Given the description of an element on the screen output the (x, y) to click on. 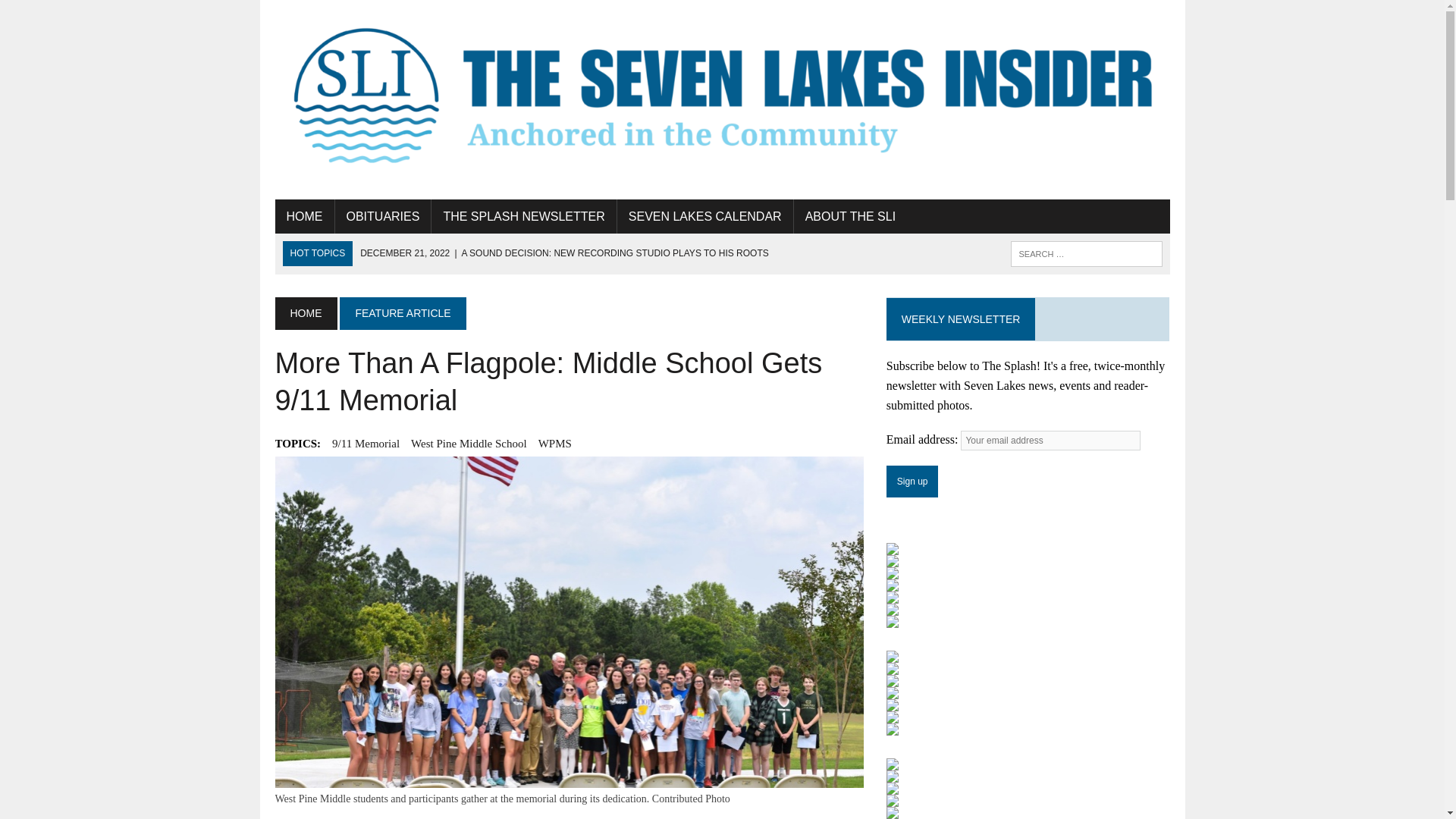
WPMS (555, 443)
ABOUT THE SLI (850, 216)
West Pine Middle School (468, 443)
HOME (305, 313)
OBITUARIES (382, 216)
FEATURE ARTICLE (402, 313)
A Sound Decision: New Recording Studio Plays to His Roots (563, 253)
Sign up (912, 481)
HOME (304, 216)
